Given the description of an element on the screen output the (x, y) to click on. 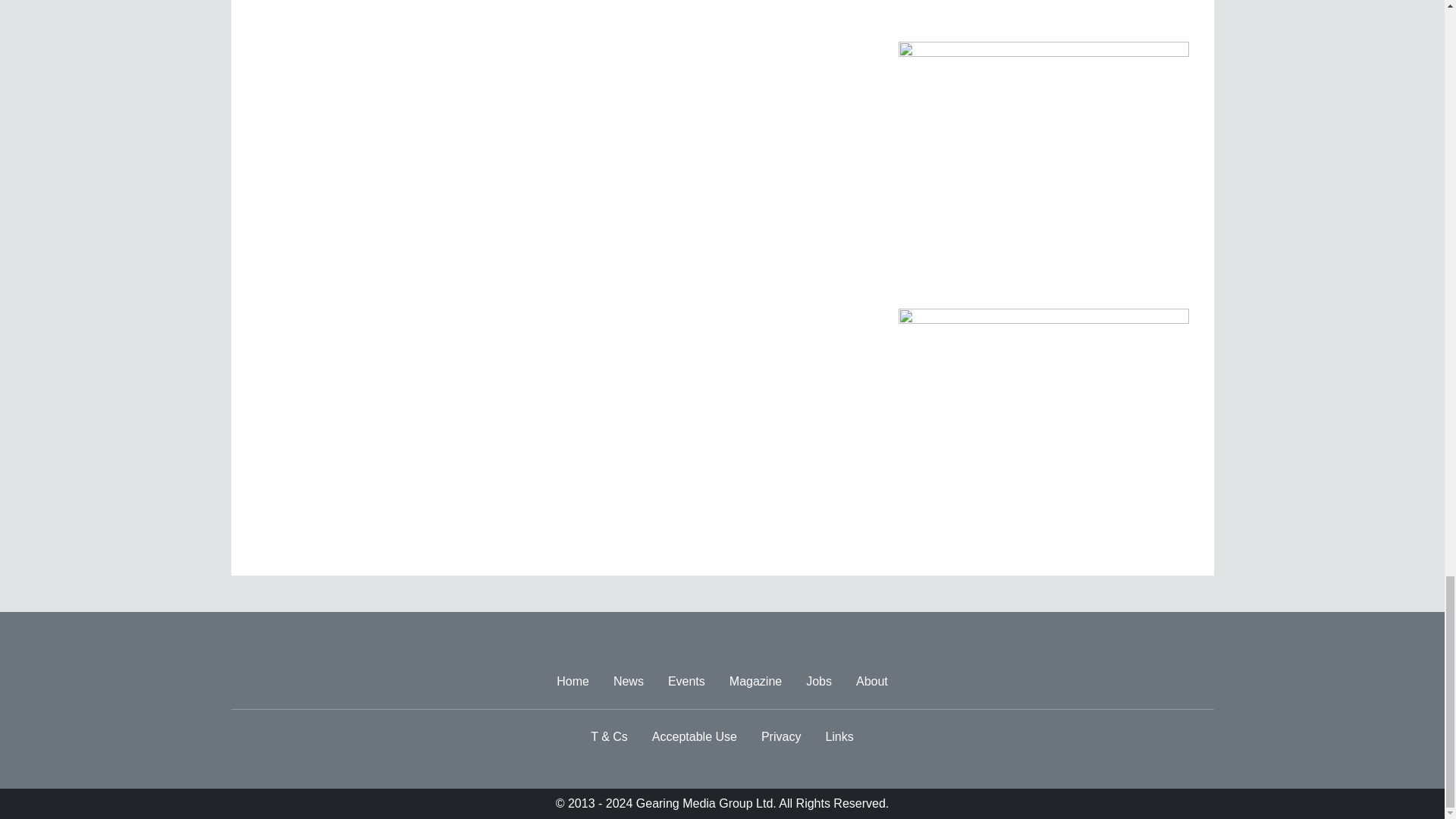
Privacy (780, 736)
News (628, 681)
Events (686, 681)
Acceptable Use (694, 736)
Jobs (818, 681)
About (871, 681)
Links (838, 736)
Home (572, 681)
Magazine (755, 681)
